Given the description of an element on the screen output the (x, y) to click on. 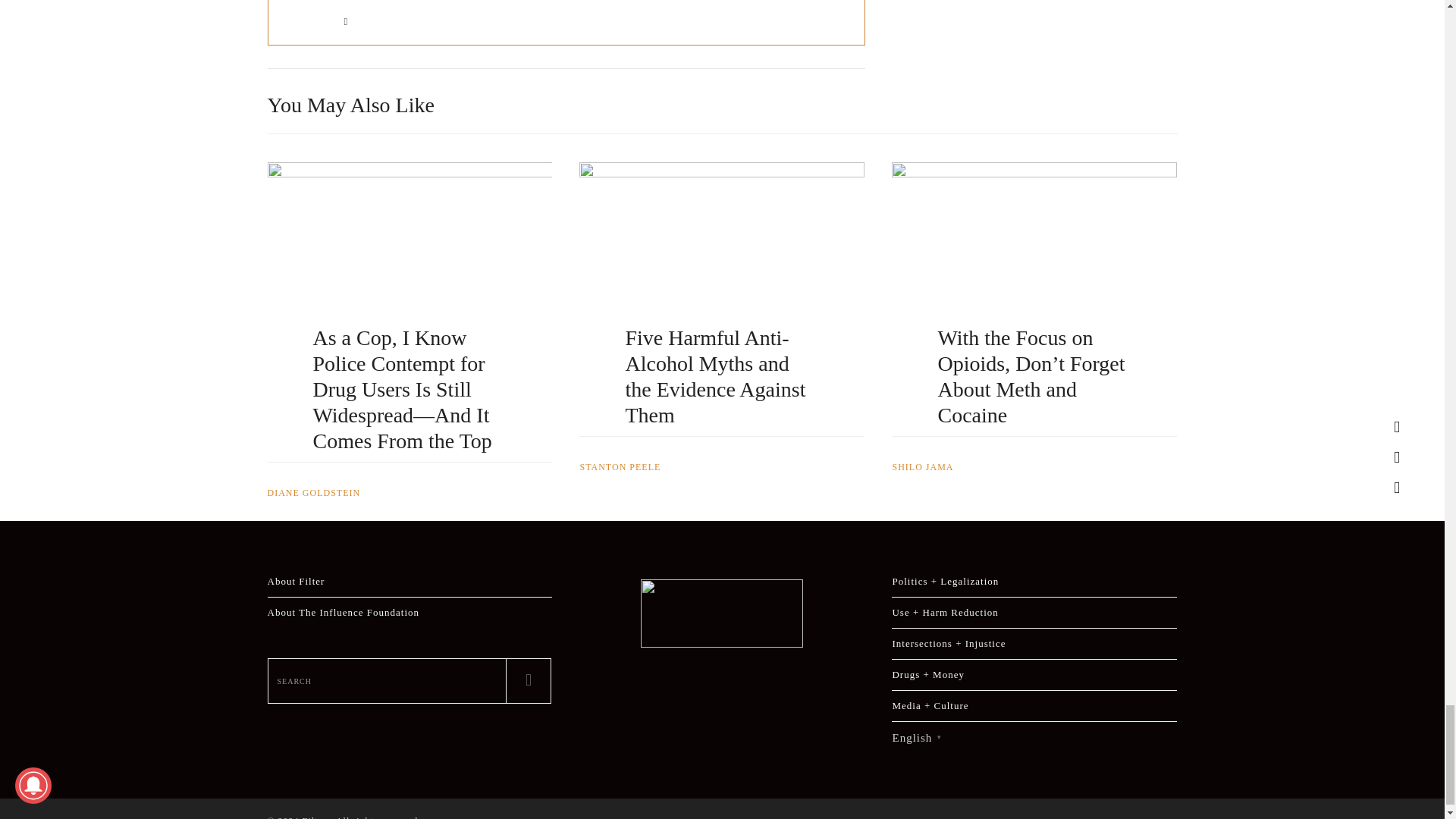
search (386, 680)
